Given the description of an element on the screen output the (x, y) to click on. 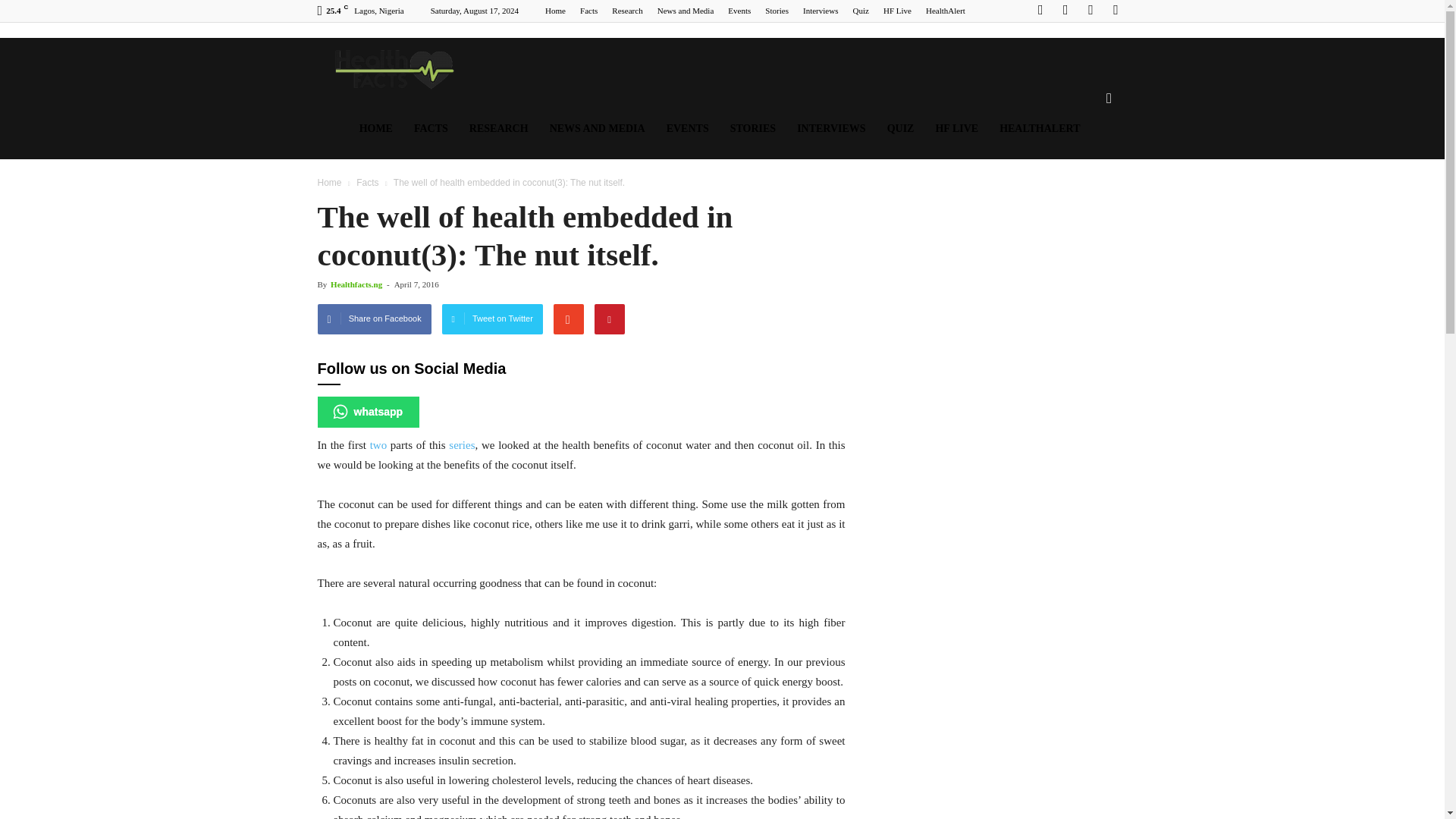
Facts (587, 10)
RESEARCH (498, 128)
NEWS AND MEDIA (597, 128)
HOME (376, 128)
HealthFacts NG (391, 68)
FACTS (430, 128)
View all posts in Facts (368, 182)
Events (739, 10)
Interviews (820, 10)
Facebook (1040, 11)
